Given the description of an element on the screen output the (x, y) to click on. 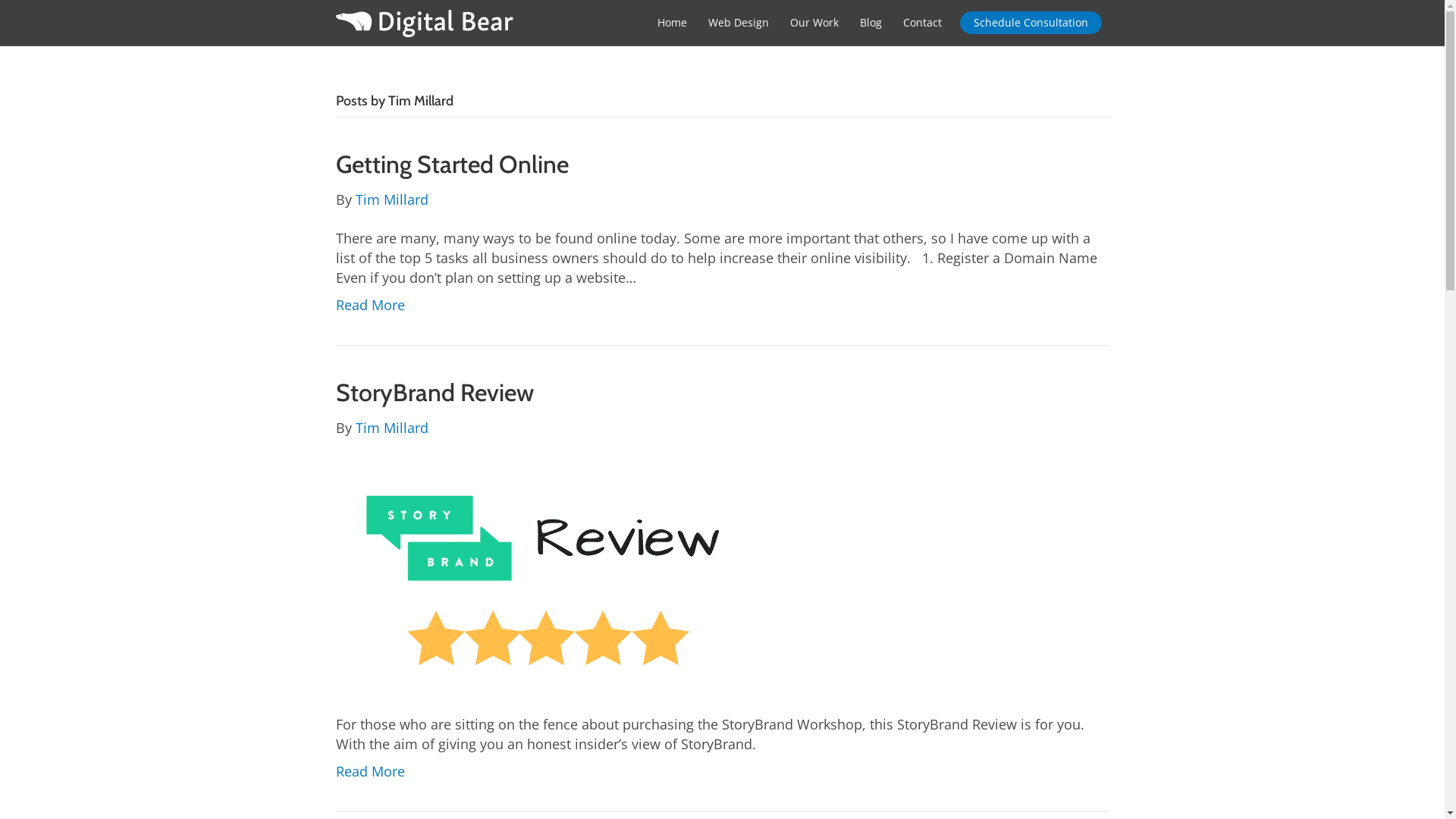
Tim Millard Element type: text (390, 199)
Tim Millard Element type: text (390, 427)
Our Work Element type: text (814, 22)
Read More Element type: text (369, 304)
Contact Element type: text (921, 22)
Blog Element type: text (870, 22)
StoryBrand Review Element type: text (434, 392)
Web Design Element type: text (738, 22)
Getting Started Online Element type: text (451, 163)
Home Element type: text (671, 22)
Schedule Consultation Element type: text (1030, 22)
StoryBrand Review Element type: hover (547, 573)
Read More Element type: text (369, 771)
